Given the description of an element on the screen output the (x, y) to click on. 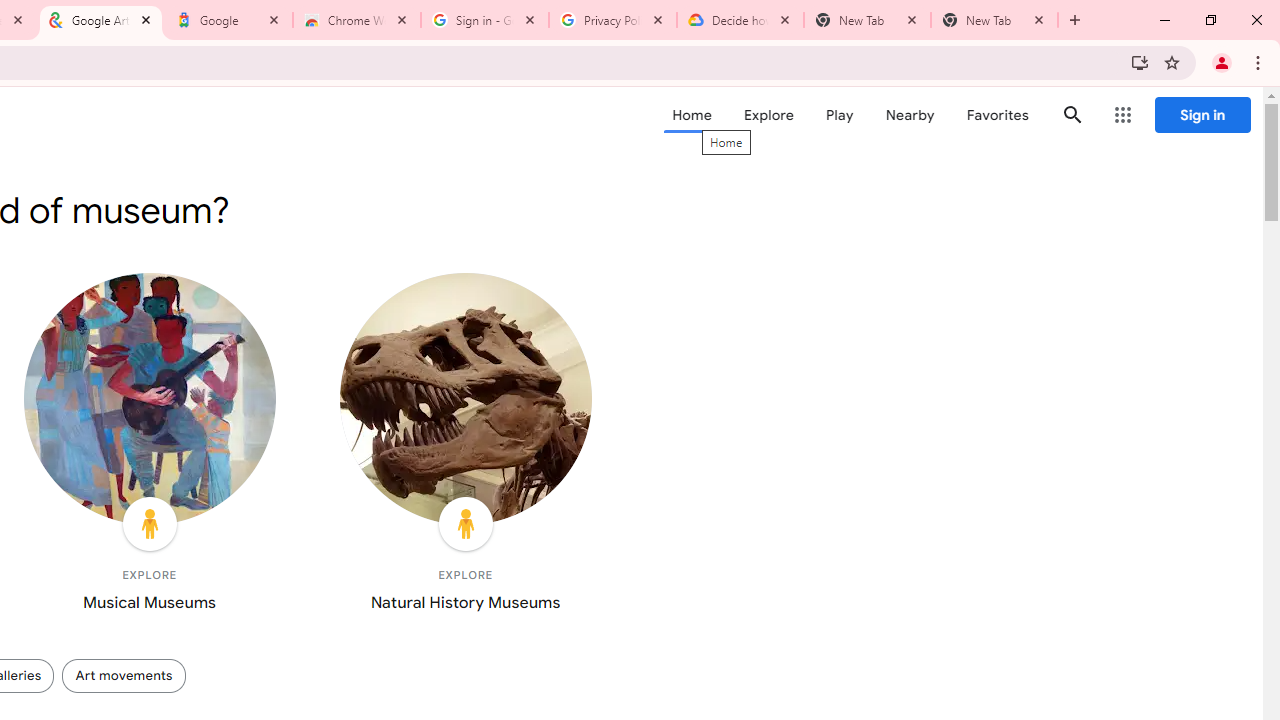
Google Arts & Culture (101, 20)
Install Google Arts & Culture (1139, 62)
Explore (768, 115)
Home (691, 115)
EXPLORE Musical Museums (149, 447)
New Tab (994, 20)
Chrome Web Store - Color themes by Chrome (357, 20)
